Given the description of an element on the screen output the (x, y) to click on. 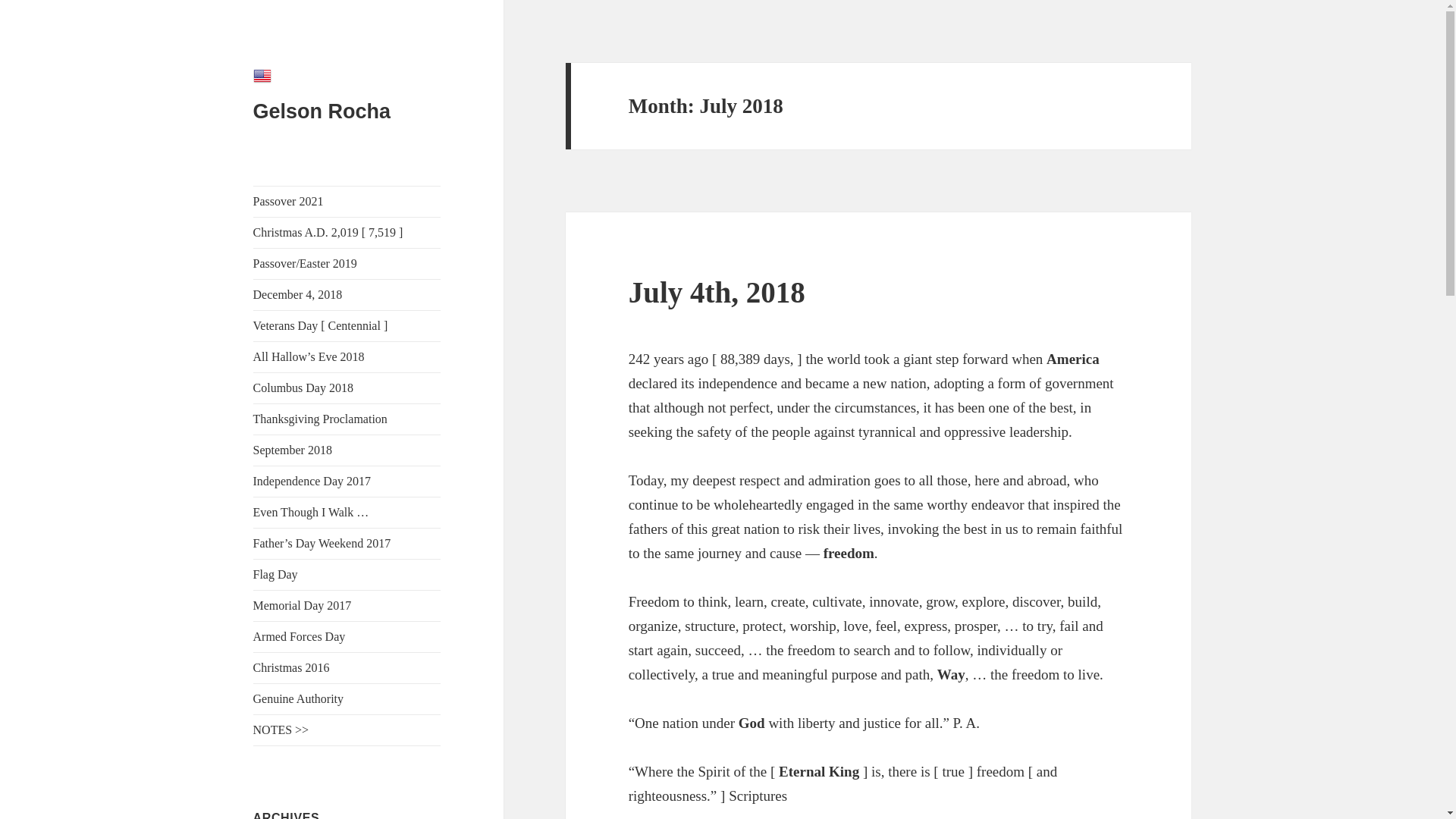
Independence Day 2017 (347, 481)
Thanksgiving Proclamation (347, 419)
Christmas 2016 (347, 667)
Memorial Day 2017 (347, 605)
September 2018 (347, 450)
Gelson Rocha (322, 110)
Genuine Authority (347, 698)
Armed Forces Day (347, 636)
Columbus Day 2018 (347, 388)
Passover 2021 (347, 201)
December 4, 2018 (347, 295)
Flag Day (347, 574)
